Given the description of an element on the screen output the (x, y) to click on. 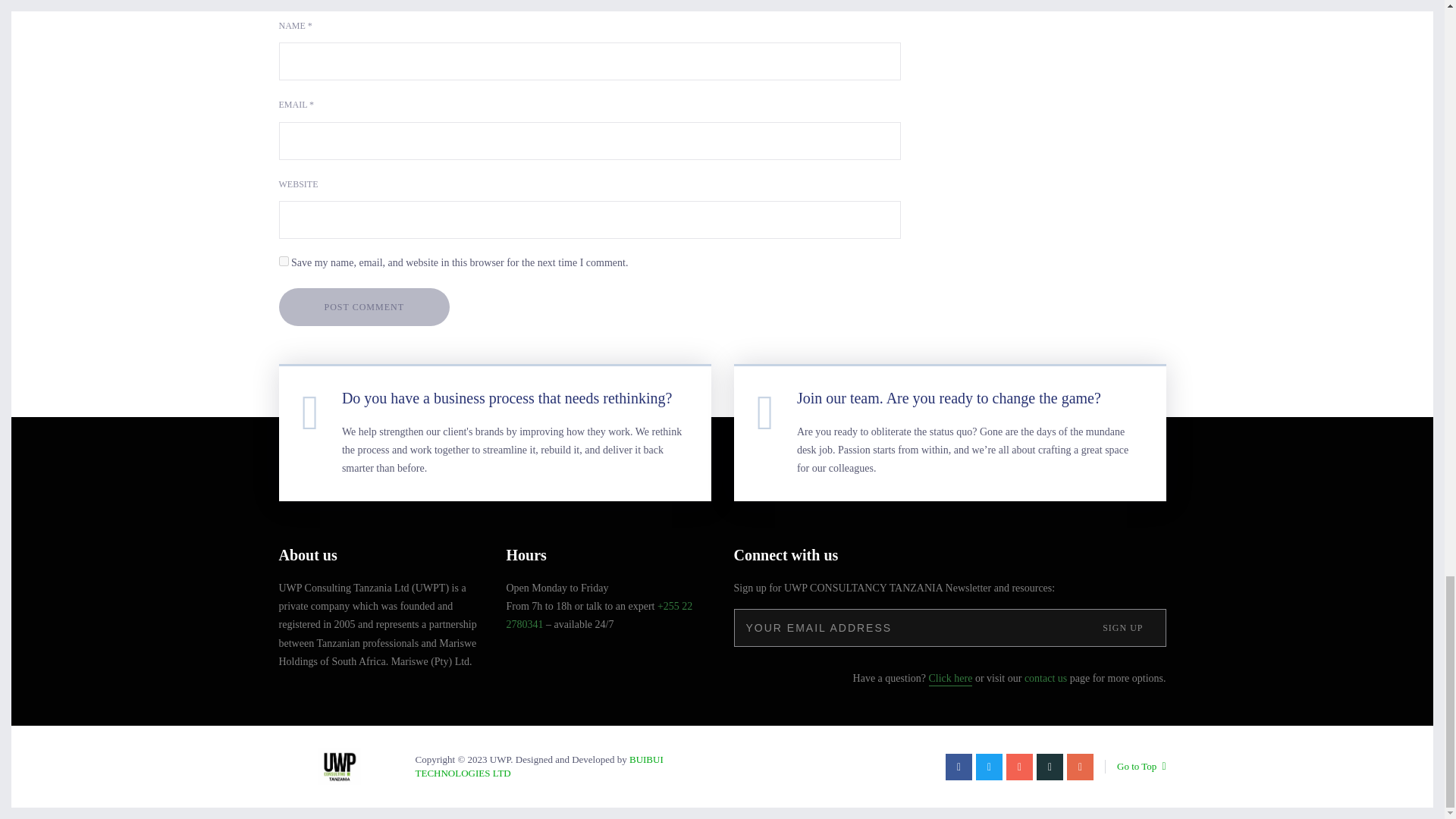
Sign up (1123, 628)
yes (283, 261)
Post Comment (364, 306)
